Given the description of an element on the screen output the (x, y) to click on. 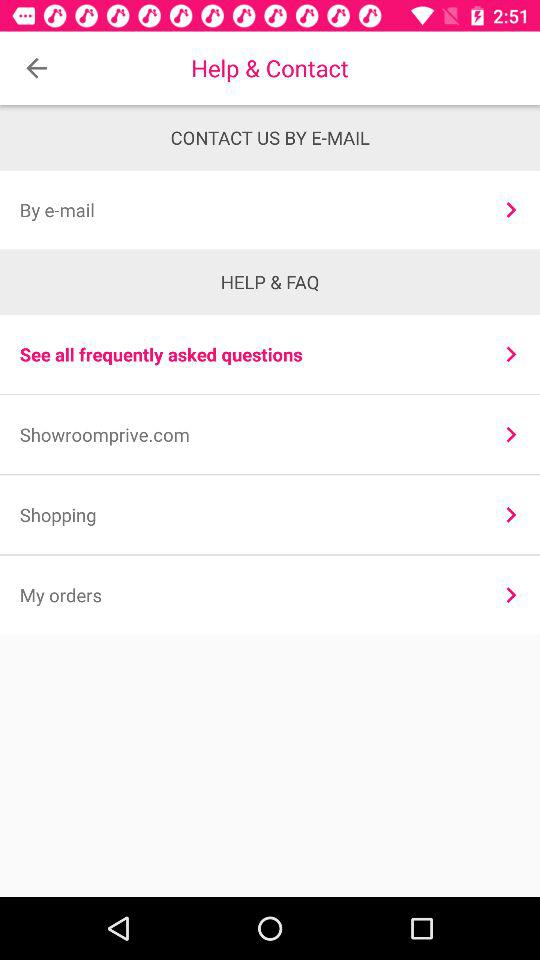
tap icon next to the help & contact icon (36, 68)
